Given the description of an element on the screen output the (x, y) to click on. 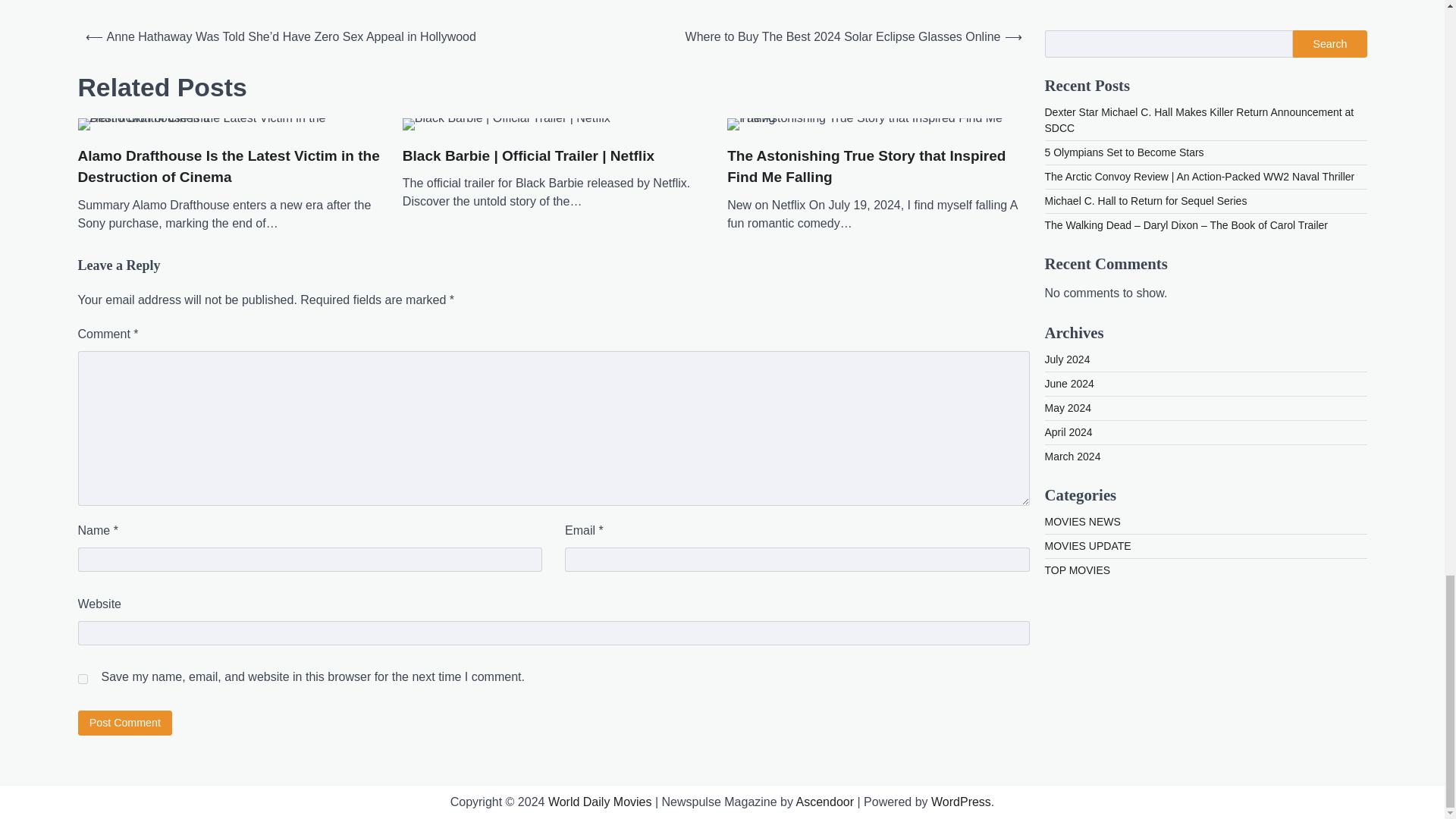
Post Comment (124, 722)
The Astonishing True Story that Inspired Find Me Falling (877, 123)
The Astonishing True Story that Inspired Find Me Falling (877, 167)
World Daily Movies (600, 801)
Post Comment (124, 722)
yes (82, 678)
Ascendoor (825, 801)
WordPress (961, 801)
